Given the description of an element on the screen output the (x, y) to click on. 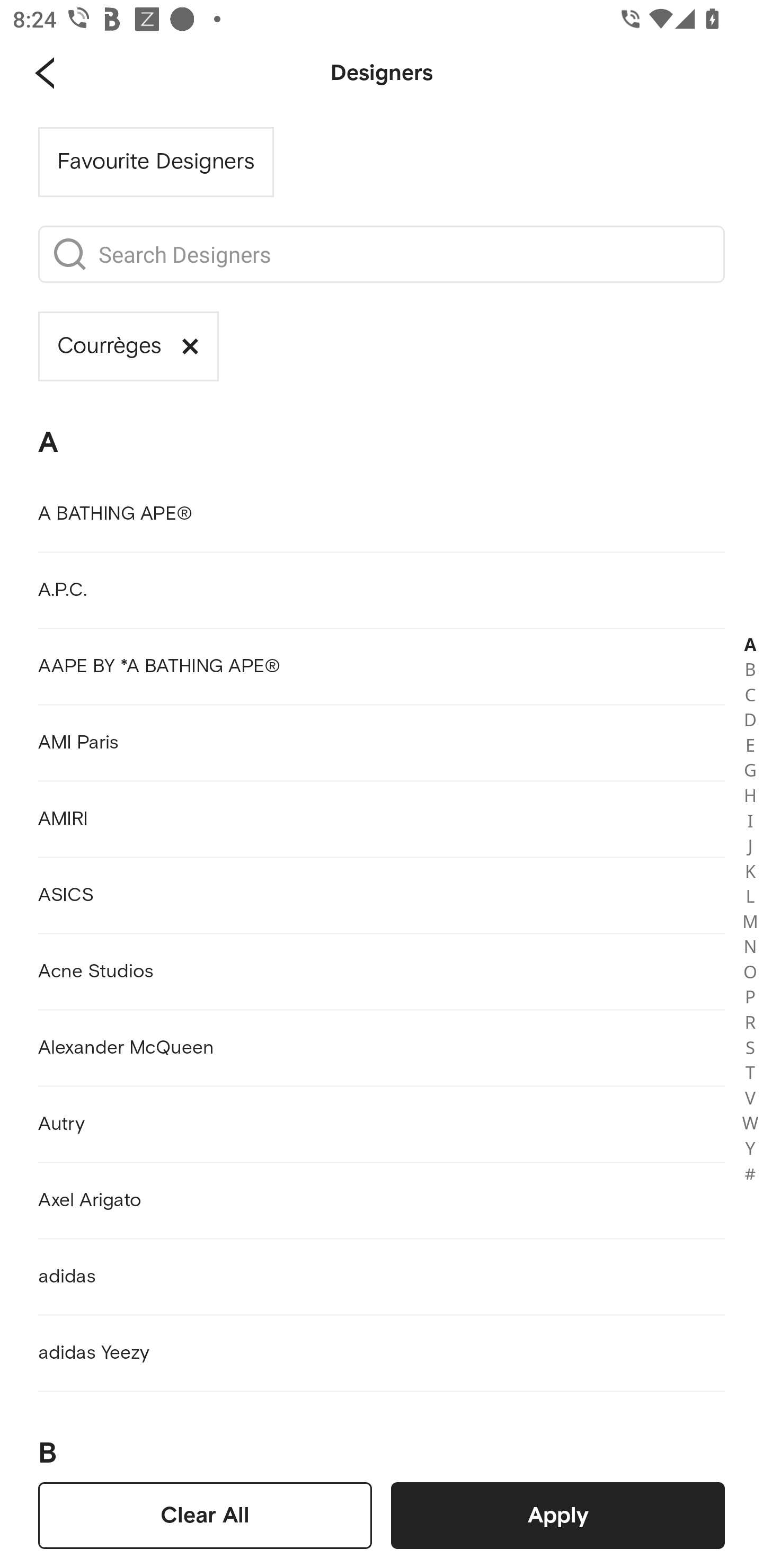
Favourite Designers (155, 162)
Search Designers (401, 253)
Courrèges (128, 346)
A BATHING APE® (381, 513)
A.P.C. (381, 590)
AAPE BY *A BATHING APE® (381, 666)
AMI Paris (381, 742)
AMIRI (381, 819)
ASICS (381, 894)
Acne Studios (381, 971)
Alexander McQueen (381, 1048)
Autry (381, 1123)
Axel Arigato (381, 1200)
adidas (381, 1276)
adidas Yeezy (381, 1352)
Clear All (205, 1515)
Apply (557, 1515)
